Given the description of an element on the screen output the (x, y) to click on. 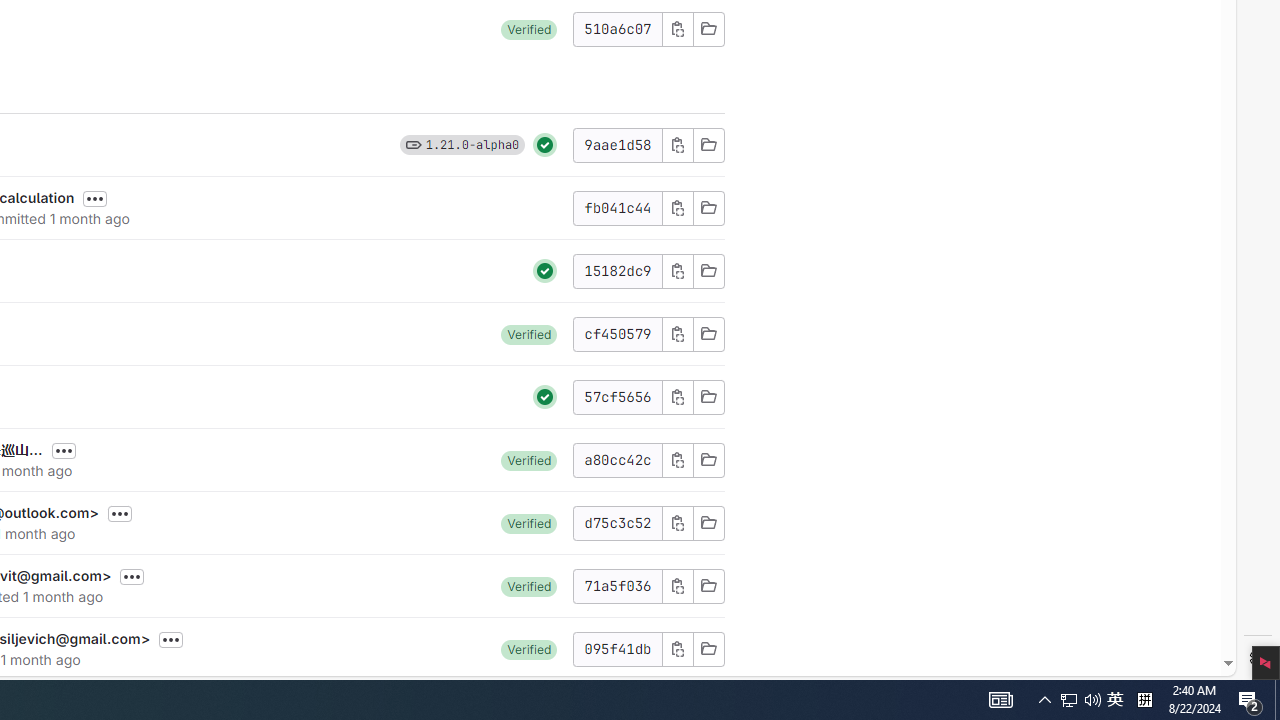
Toggle commit description (171, 640)
Class: s16 gl-icon gl-button-icon  (677, 648)
Browse Files (708, 648)
1.21.0-alpha0 (471, 144)
Class: s16 (708, 648)
Class: s16 gl-icon gl-badge-icon (413, 144)
Class: s24 gl-icon (545, 396)
Pipeline: passed (545, 396)
Copy commit SHA (676, 648)
Verified (529, 648)
